Given the description of an element on the screen output the (x, y) to click on. 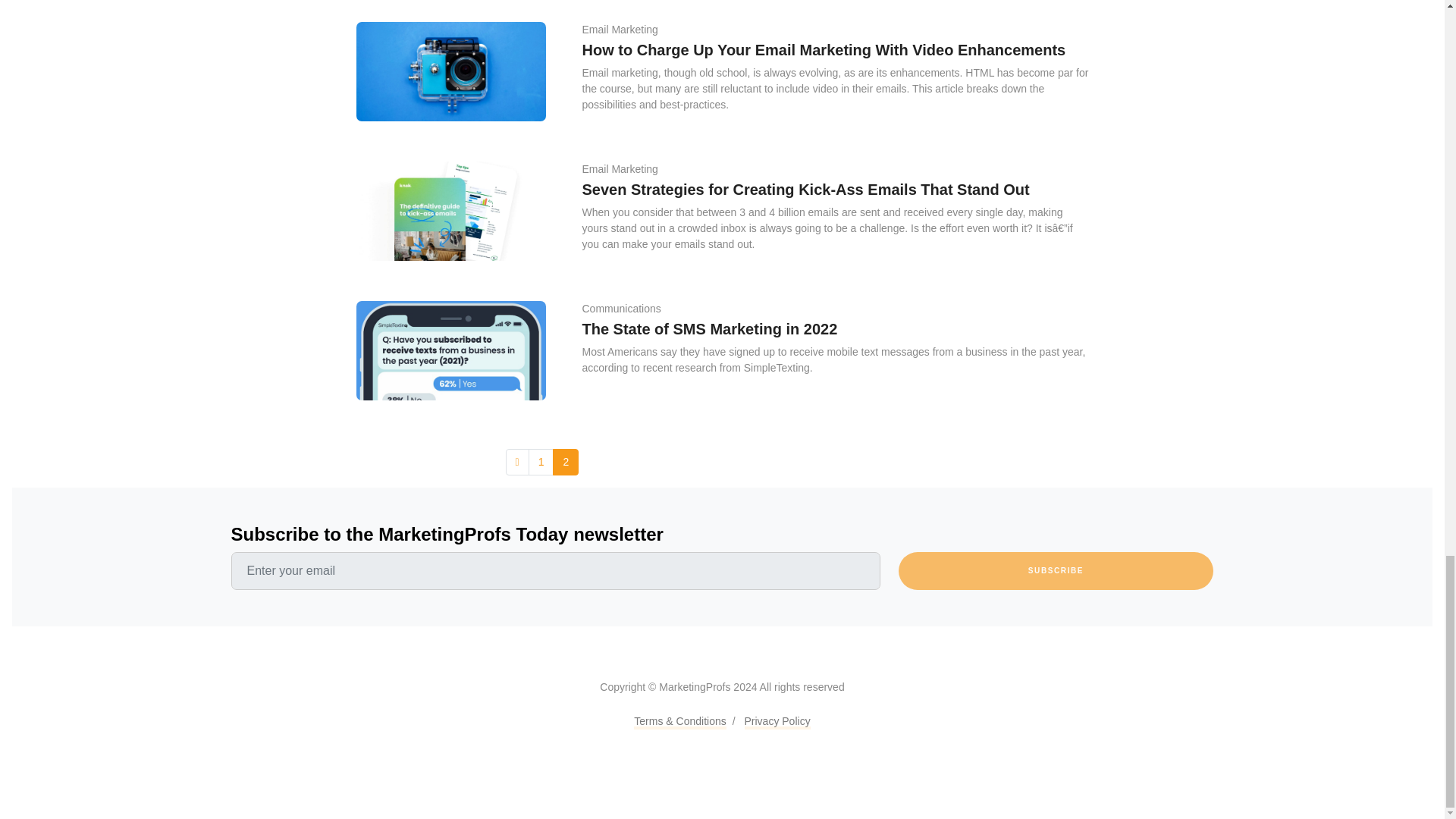
Subscribe (1055, 570)
